Given the description of an element on the screen output the (x, y) to click on. 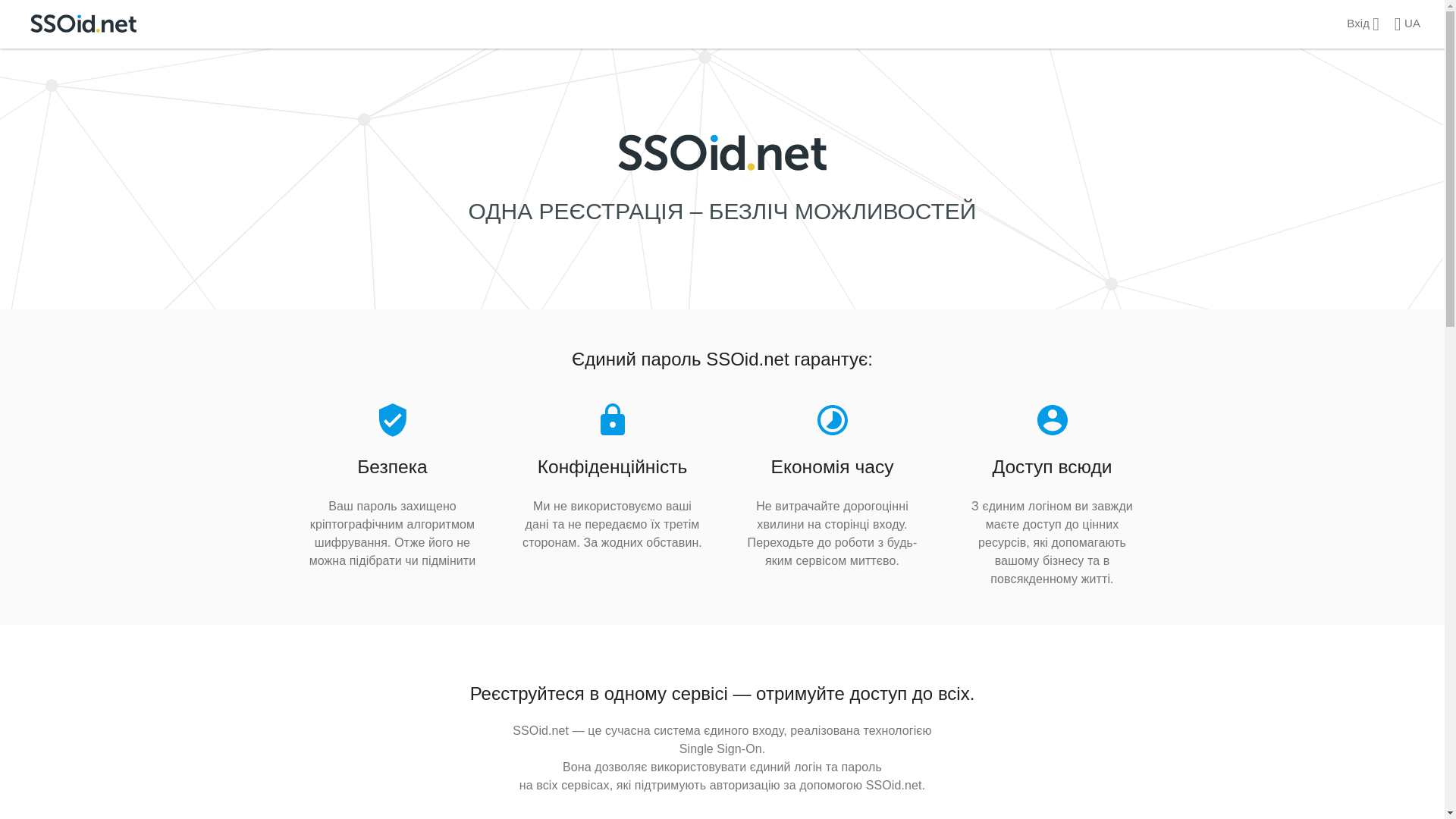
UA (1407, 20)
SSOid (722, 152)
